Given the description of an element on the screen output the (x, y) to click on. 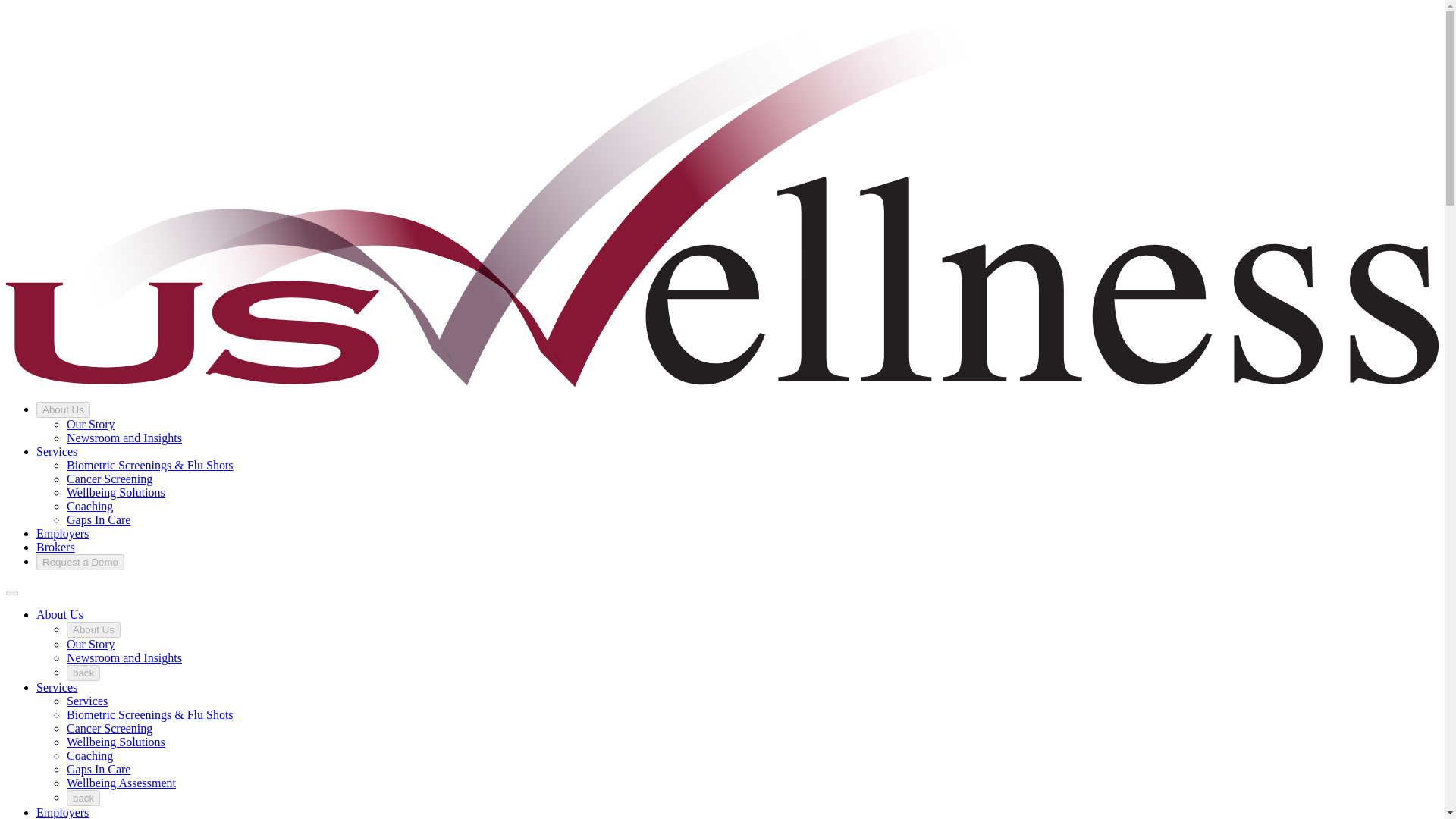
About Us (63, 409)
Gaps In Care (98, 519)
Coaching (89, 755)
Cancer Screening (109, 727)
Employers (62, 533)
Request a Demo (79, 562)
Employers (62, 812)
Gaps In Care (98, 768)
Coaching (89, 505)
Services (56, 686)
Wellbeing Solutions (115, 741)
back (83, 672)
Wellbeing Assessment (121, 782)
Brokers (55, 546)
Newsroom and Insights (124, 657)
